Given the description of an element on the screen output the (x, y) to click on. 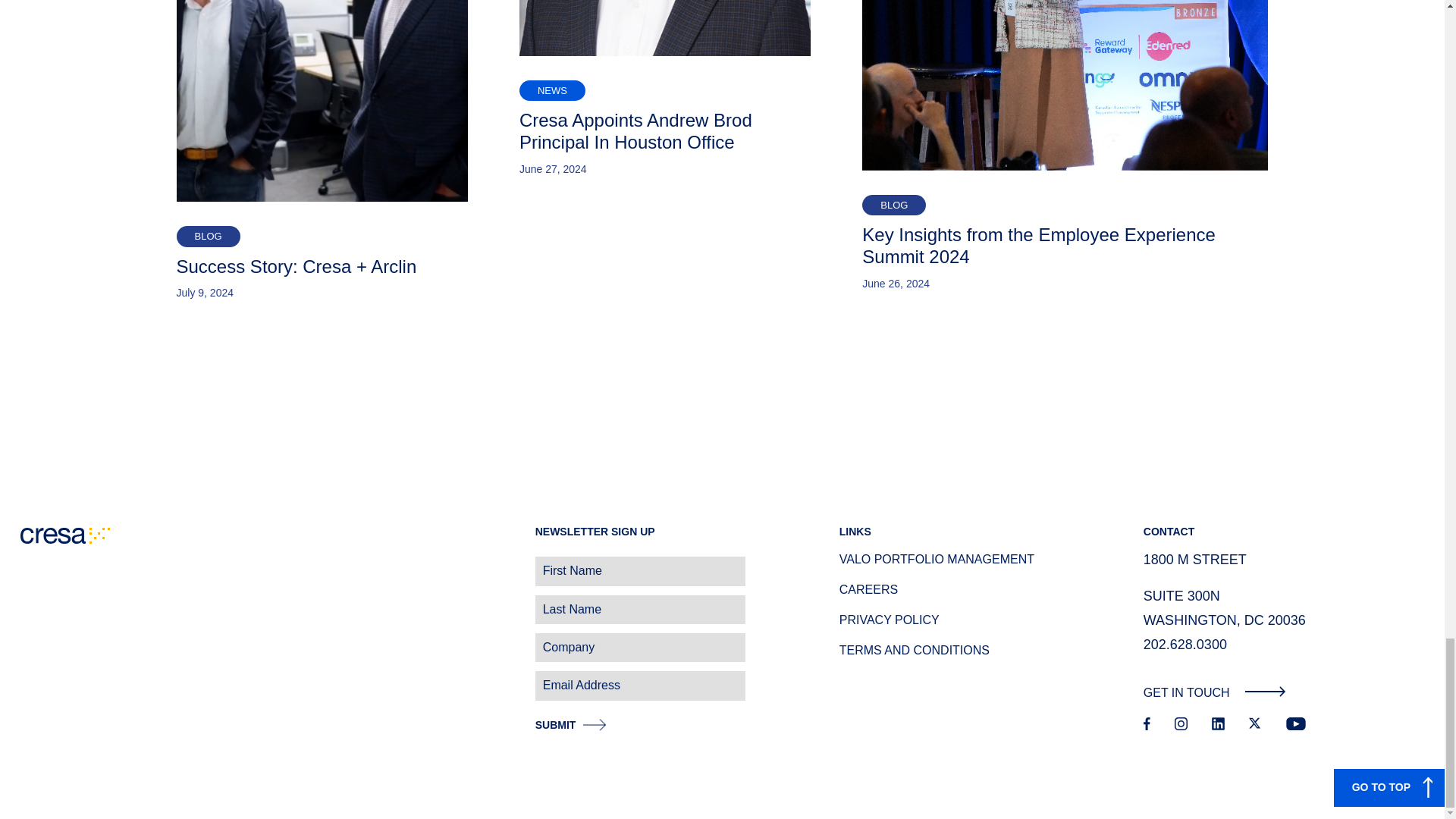
ARROW SMALL (1264, 691)
